Given the description of an element on the screen output the (x, y) to click on. 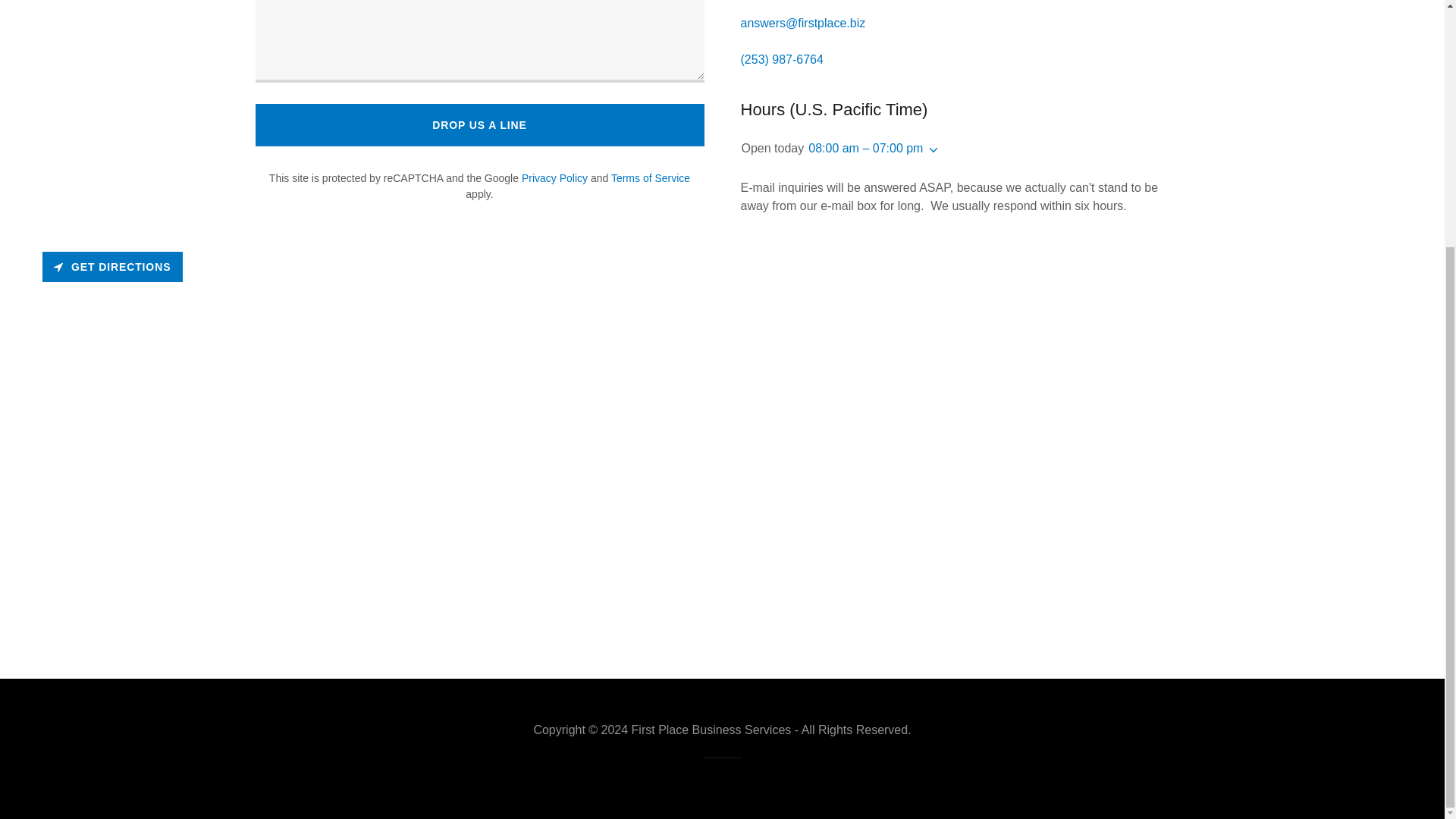
GET DIRECTIONS (112, 266)
DROP US A LINE (478, 125)
Privacy Policy (554, 177)
Terms of Service (650, 177)
